Given the description of an element on the screen output the (x, y) to click on. 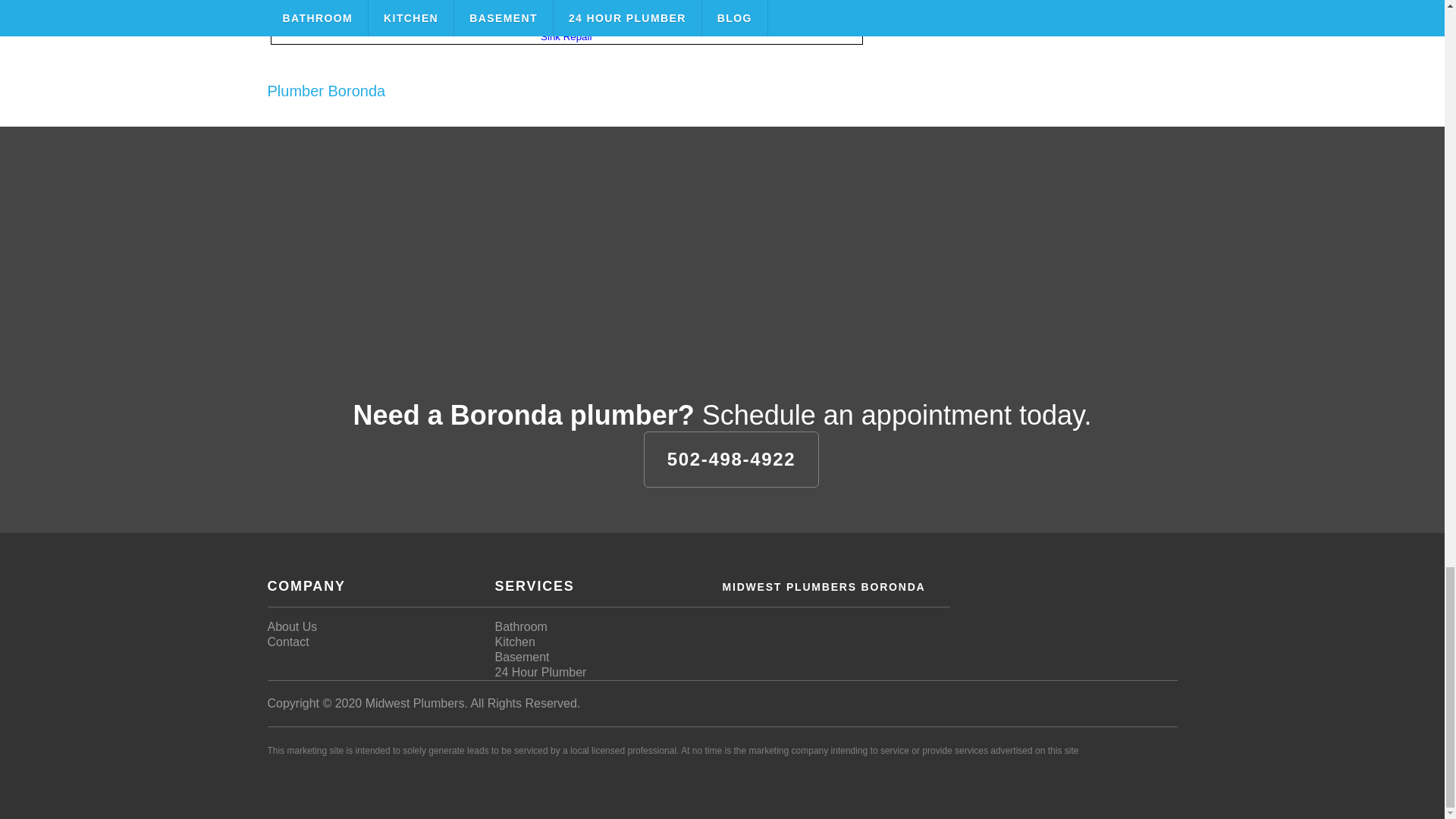
Contact (287, 641)
Bathroom (521, 626)
About Us (291, 626)
24 Hour Plumber (540, 671)
Toilet Repair (566, 14)
Basement (521, 656)
502-498-4922 (731, 459)
Sink Repair (566, 36)
Plumber Boronda (325, 90)
